Given the description of an element on the screen output the (x, y) to click on. 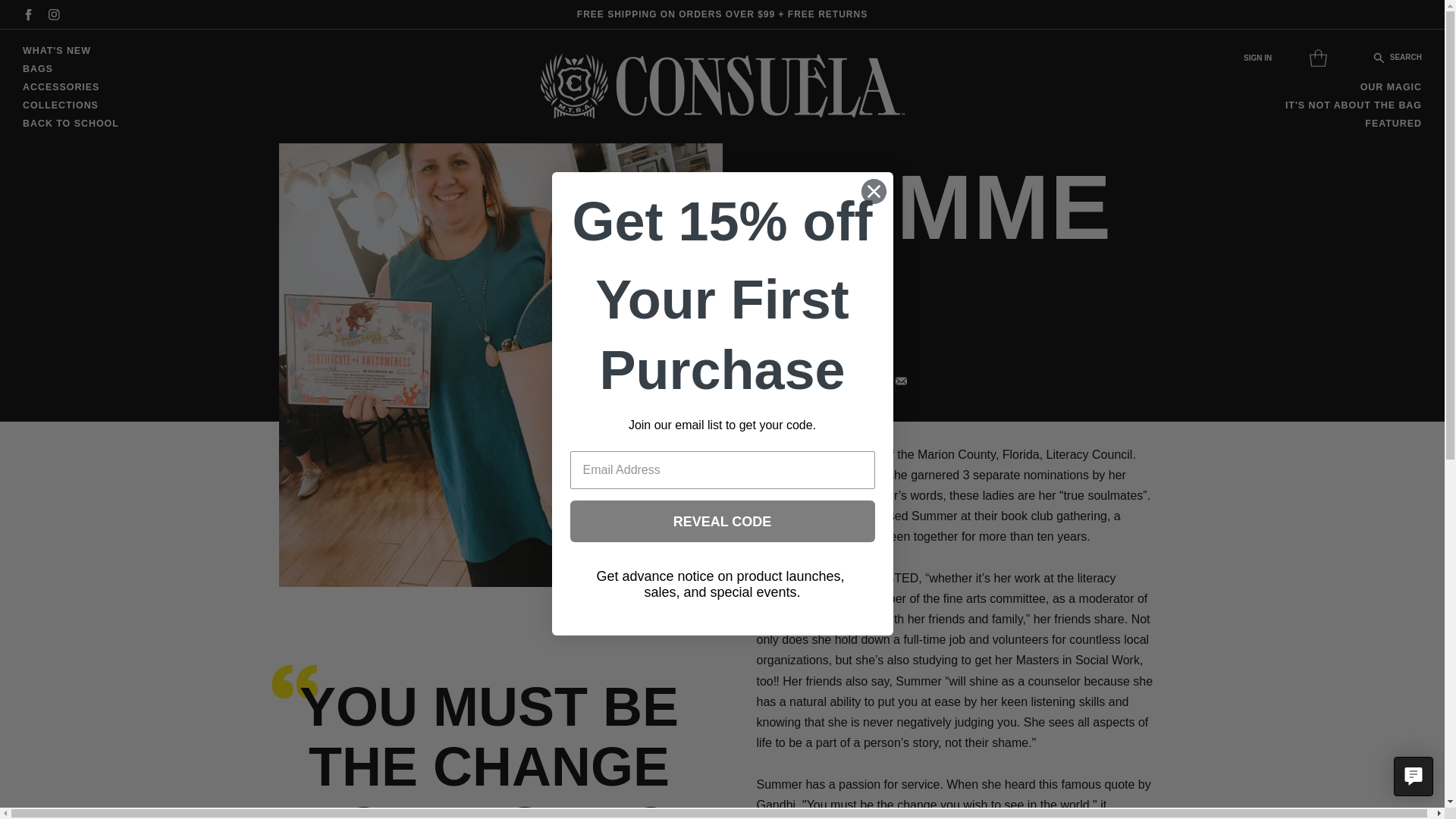
Close dialog 3 (873, 191)
